Given the description of an element on the screen output the (x, y) to click on. 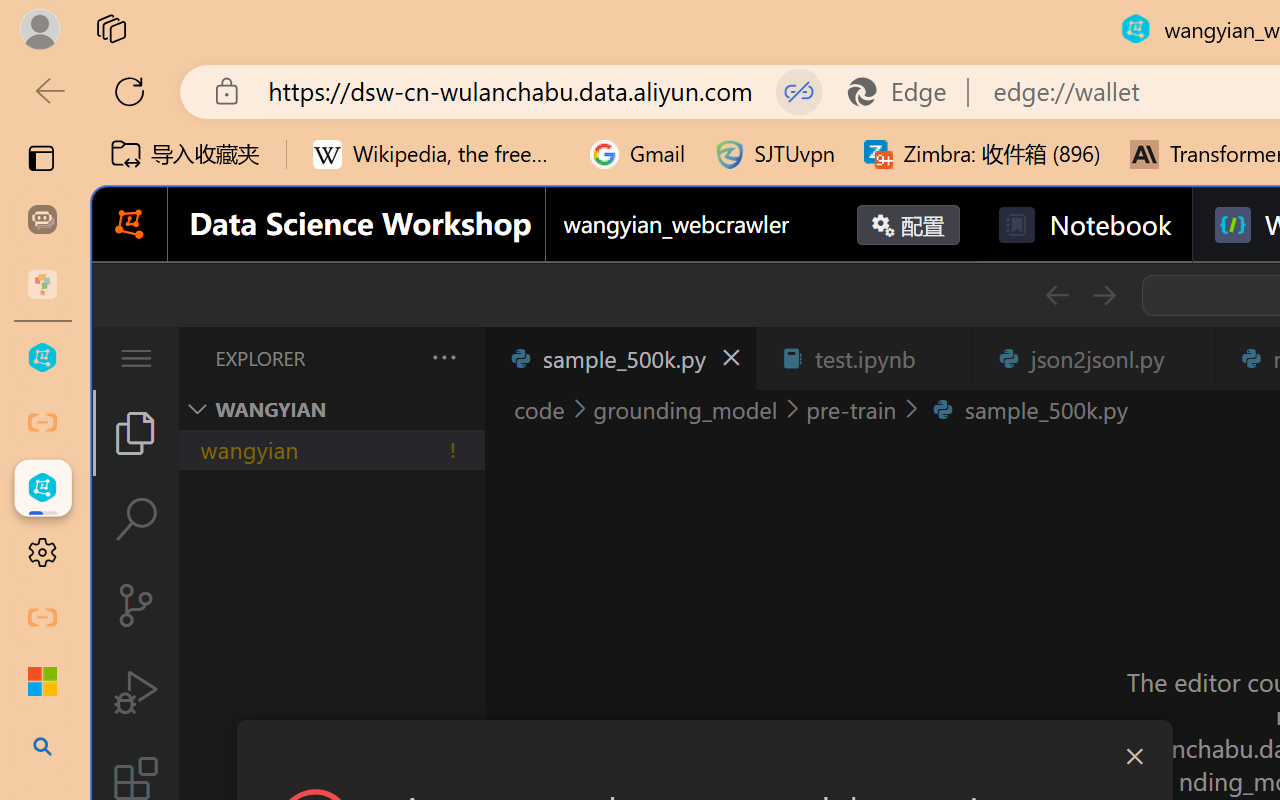
Fall Over (1180, 111)
